Given the description of an element on the screen output the (x, y) to click on. 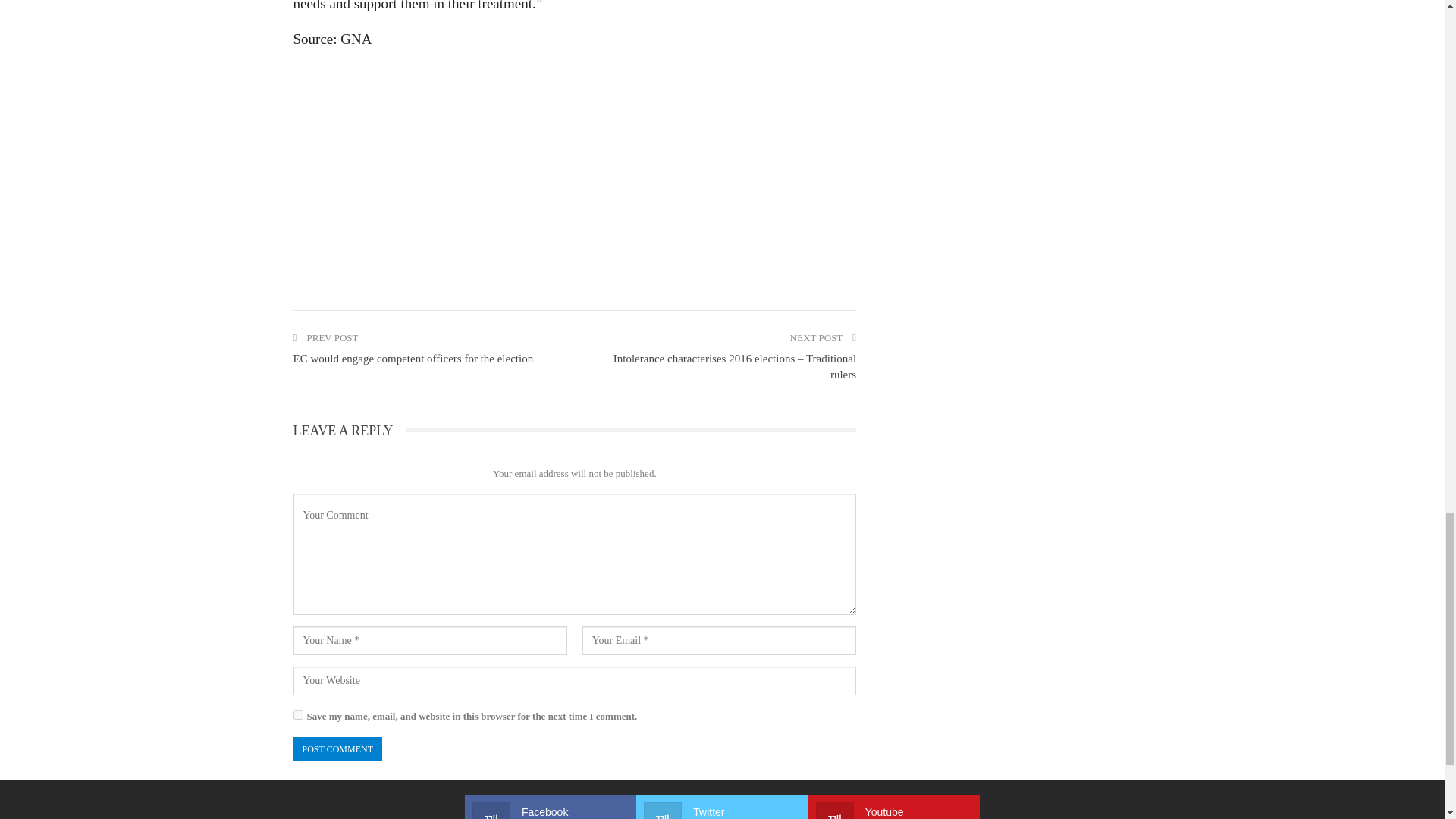
yes (297, 714)
Post Comment (336, 749)
Post Comment (336, 749)
EC would engage competent officers for the election (412, 358)
